Given the description of an element on the screen output the (x, y) to click on. 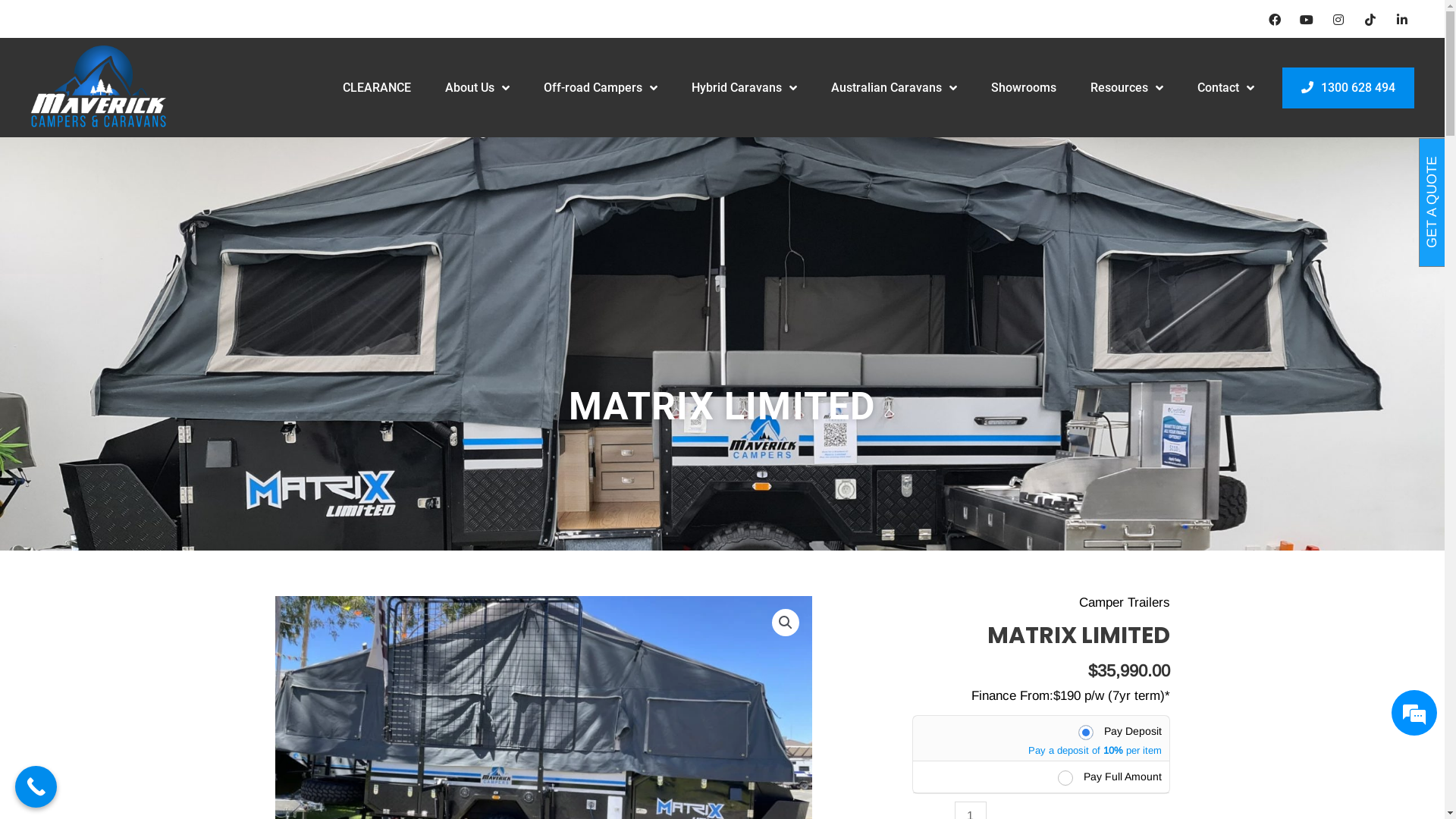
Youtube Element type: text (1306, 19)
Australian Caravans Element type: text (893, 87)
Facebook-f Element type: text (1274, 19)
Contact Element type: text (1224, 87)
Camper Trailers Element type: text (1123, 602)
Off-road Campers Element type: text (599, 87)
Resources Element type: text (1126, 87)
Linkedin Element type: text (1402, 19)
Tiktok Element type: text (1370, 19)
Hybrid Caravans Element type: text (744, 87)
1300 628 494 Element type: text (1348, 87)
Showrooms Element type: text (1022, 87)
CLEARANCE Element type: text (376, 87)
Instagram Element type: text (1338, 19)
About Us Element type: text (476, 87)
